Given the description of an element on the screen output the (x, y) to click on. 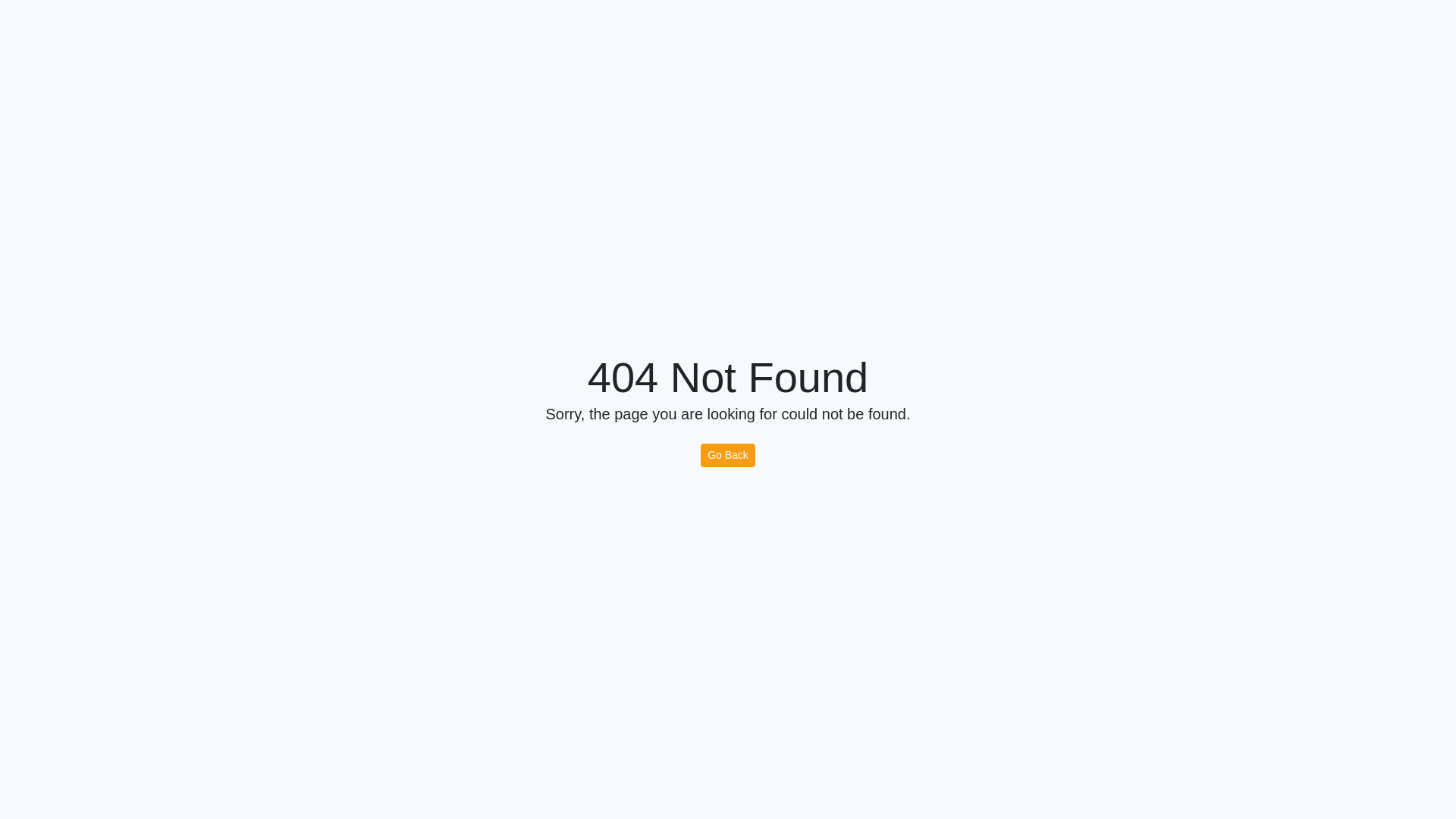
Go Back Element type: text (727, 455)
